Given the description of an element on the screen output the (x, y) to click on. 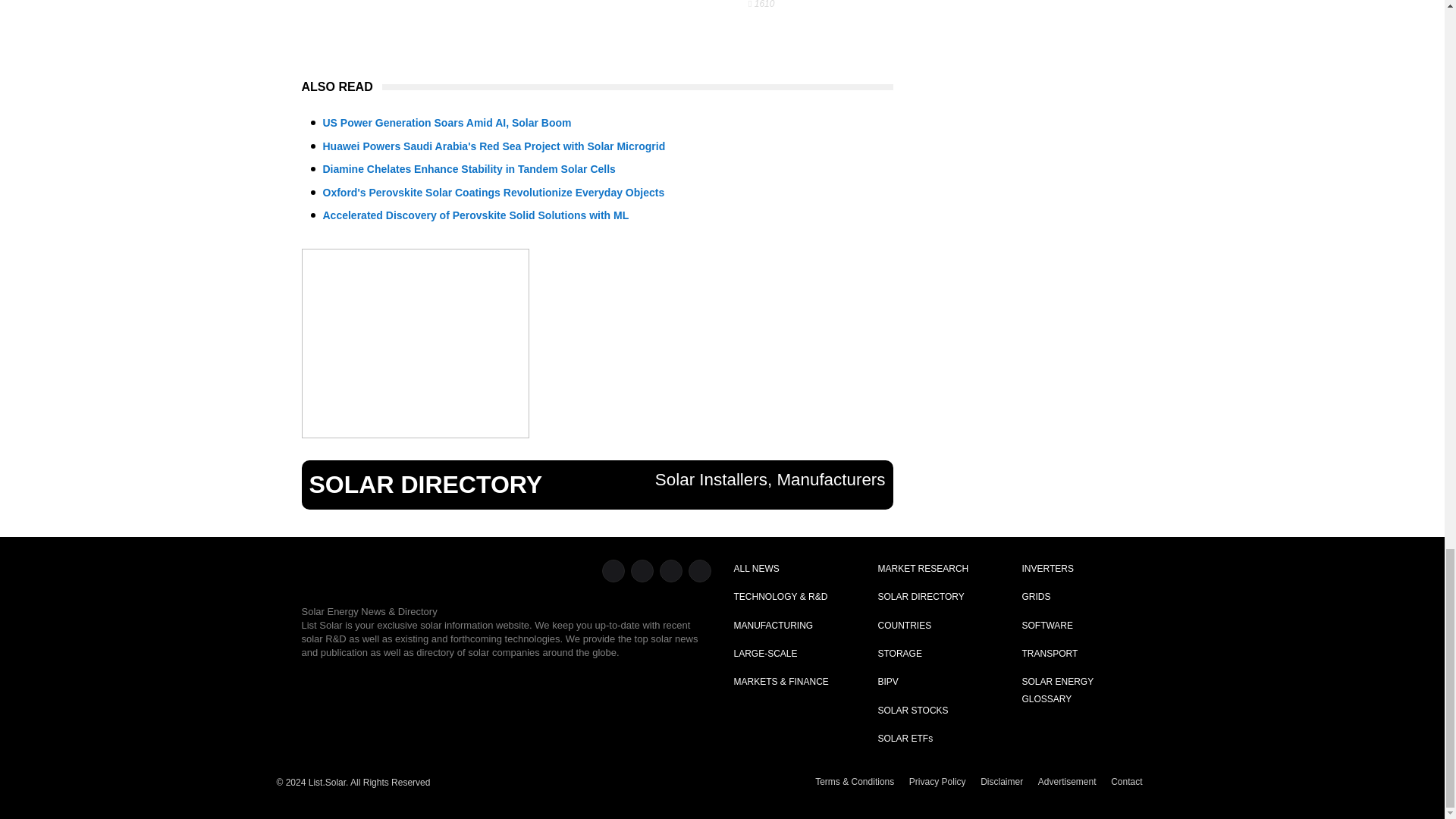
Diamine Chelates Enhance Stability in Tandem Solar Cells (469, 168)
US Power Generation Soars Amid AI, Solar Boom (447, 122)
Accelerated Discovery of Perovskite Solid Solutions with ML (475, 215)
